Given the description of an element on the screen output the (x, y) to click on. 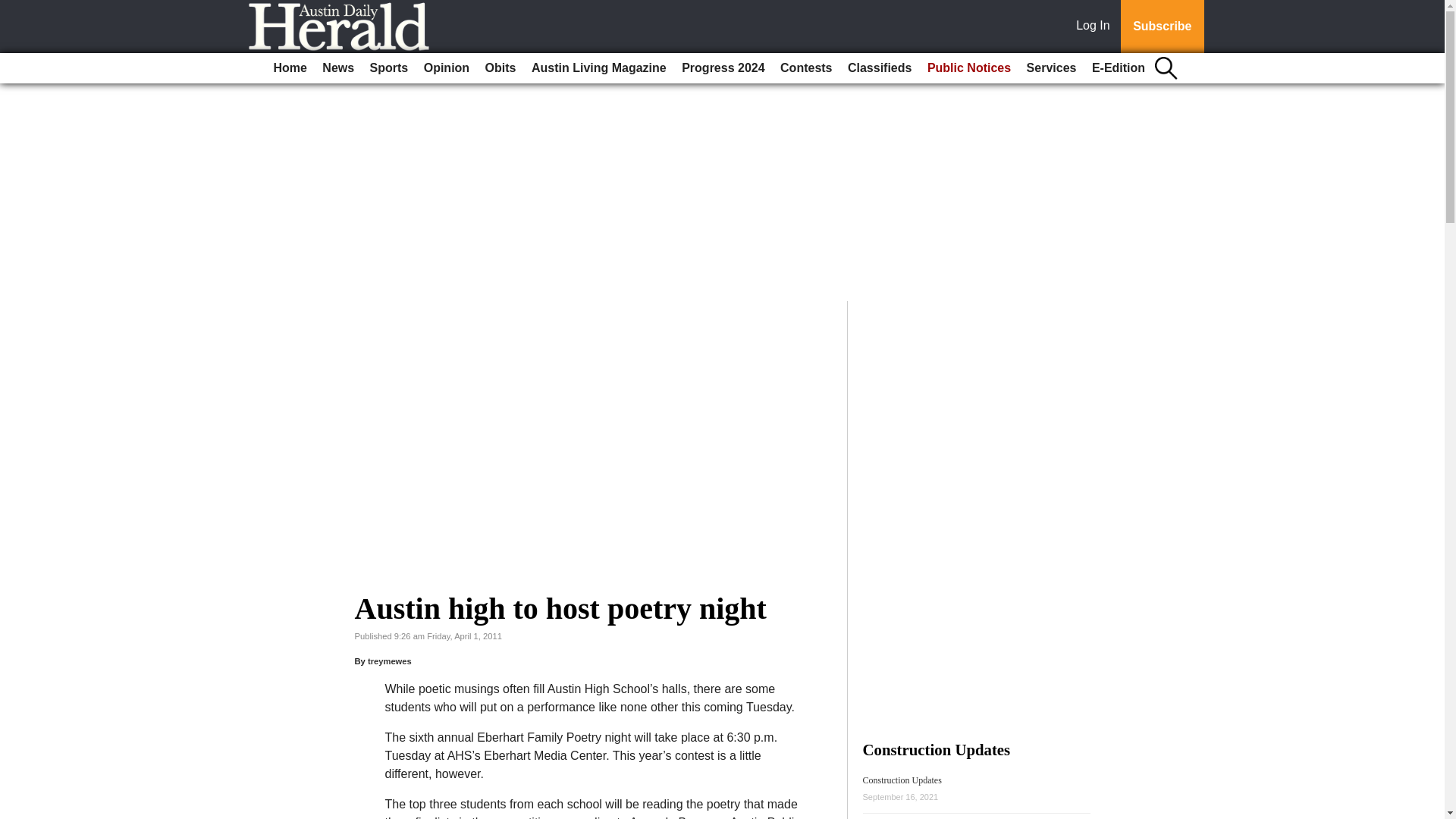
Opinion (446, 68)
Austin Living Magazine (598, 68)
Log In (1095, 26)
News (337, 68)
Progress 2024 (722, 68)
Obits (500, 68)
Classifieds (879, 68)
Public Notices (968, 68)
Sports (389, 68)
Home (289, 68)
Contests (806, 68)
Subscribe (1162, 26)
Services (1051, 68)
